Given the description of an element on the screen output the (x, y) to click on. 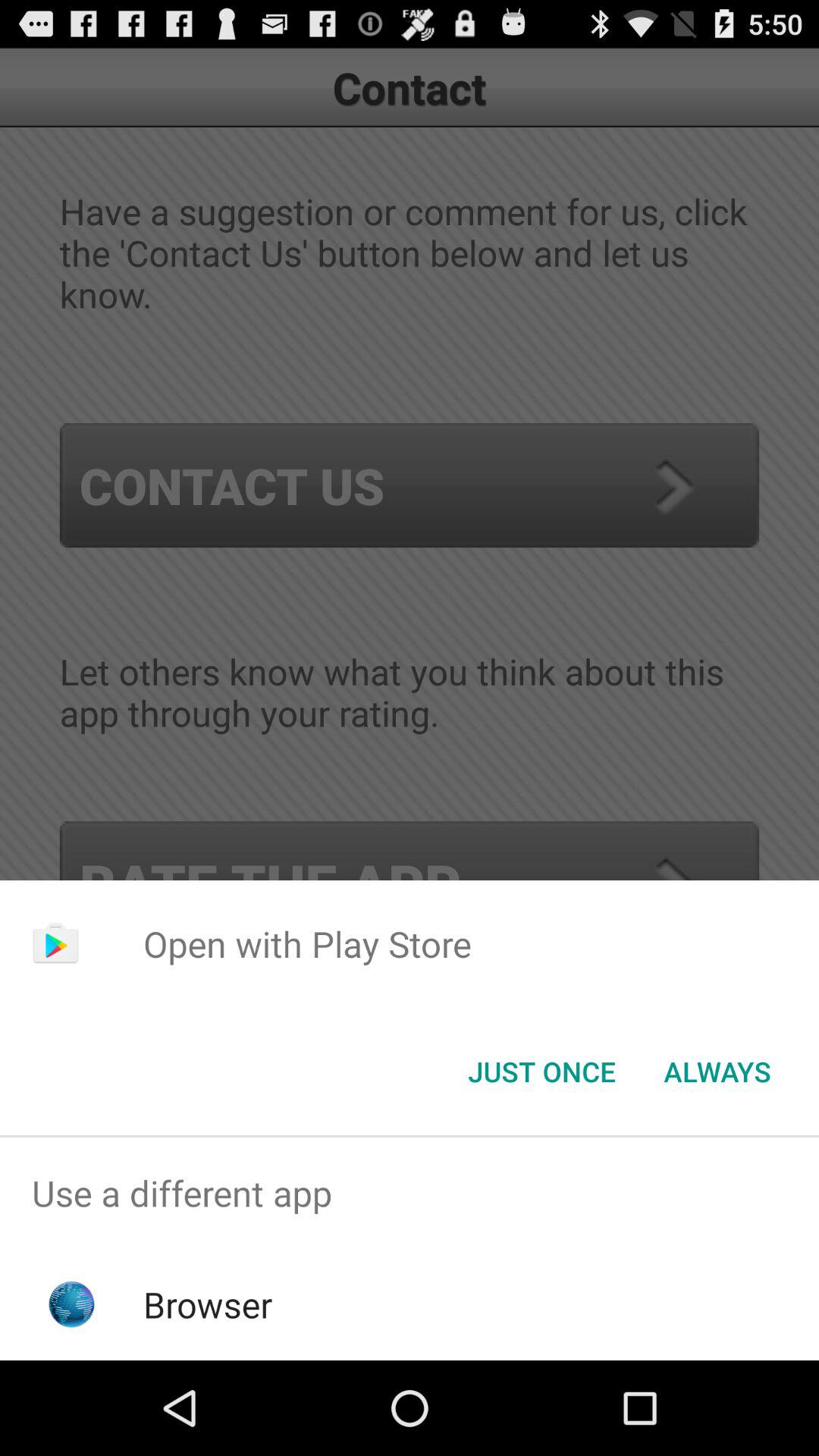
open item above the browser app (409, 1192)
